Given the description of an element on the screen output the (x, y) to click on. 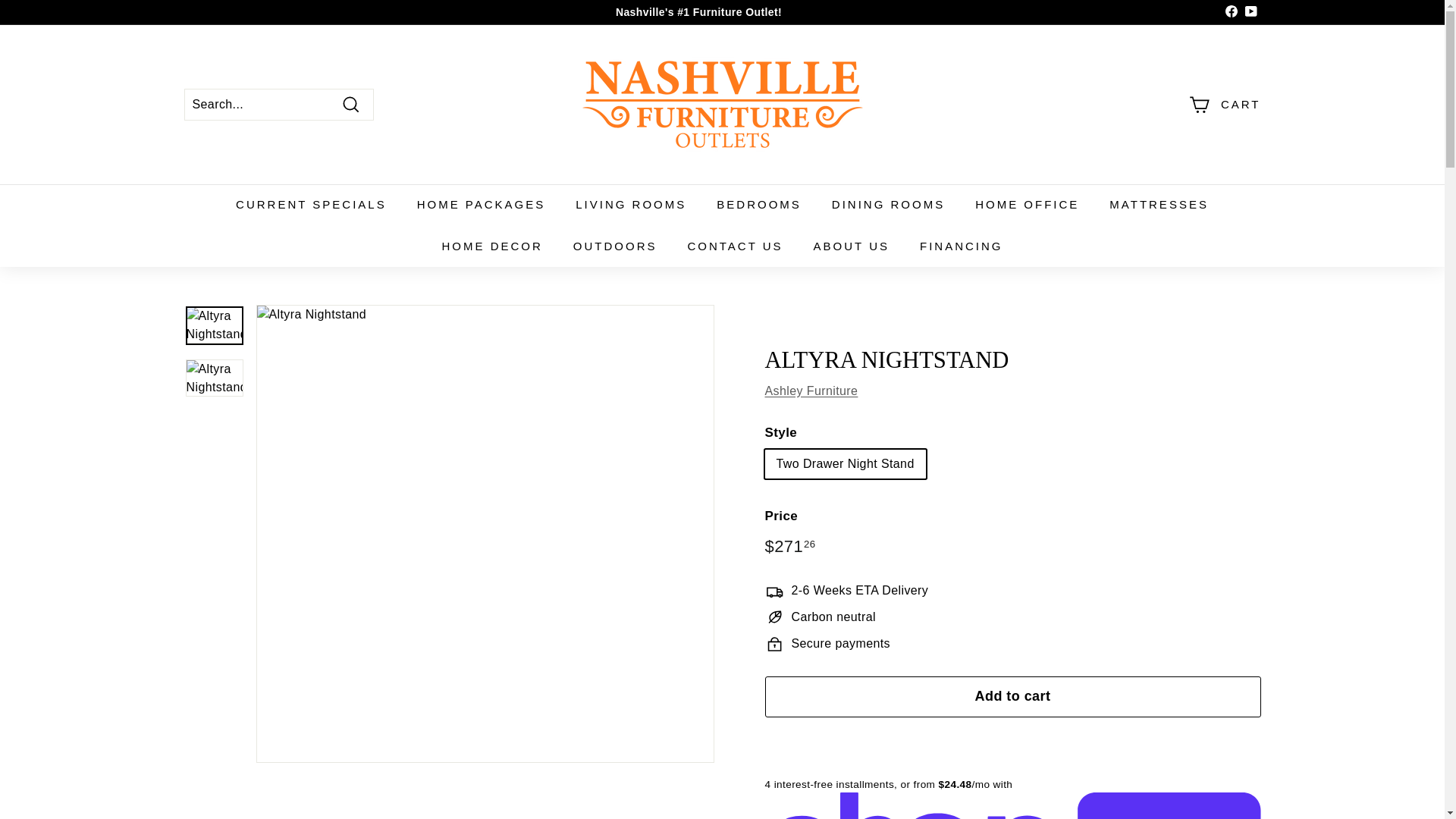
HOME PACKAGES (480, 205)
LIVING ROOMS (630, 205)
CURRENT SPECIALS (311, 205)
